Given the description of an element on the screen output the (x, y) to click on. 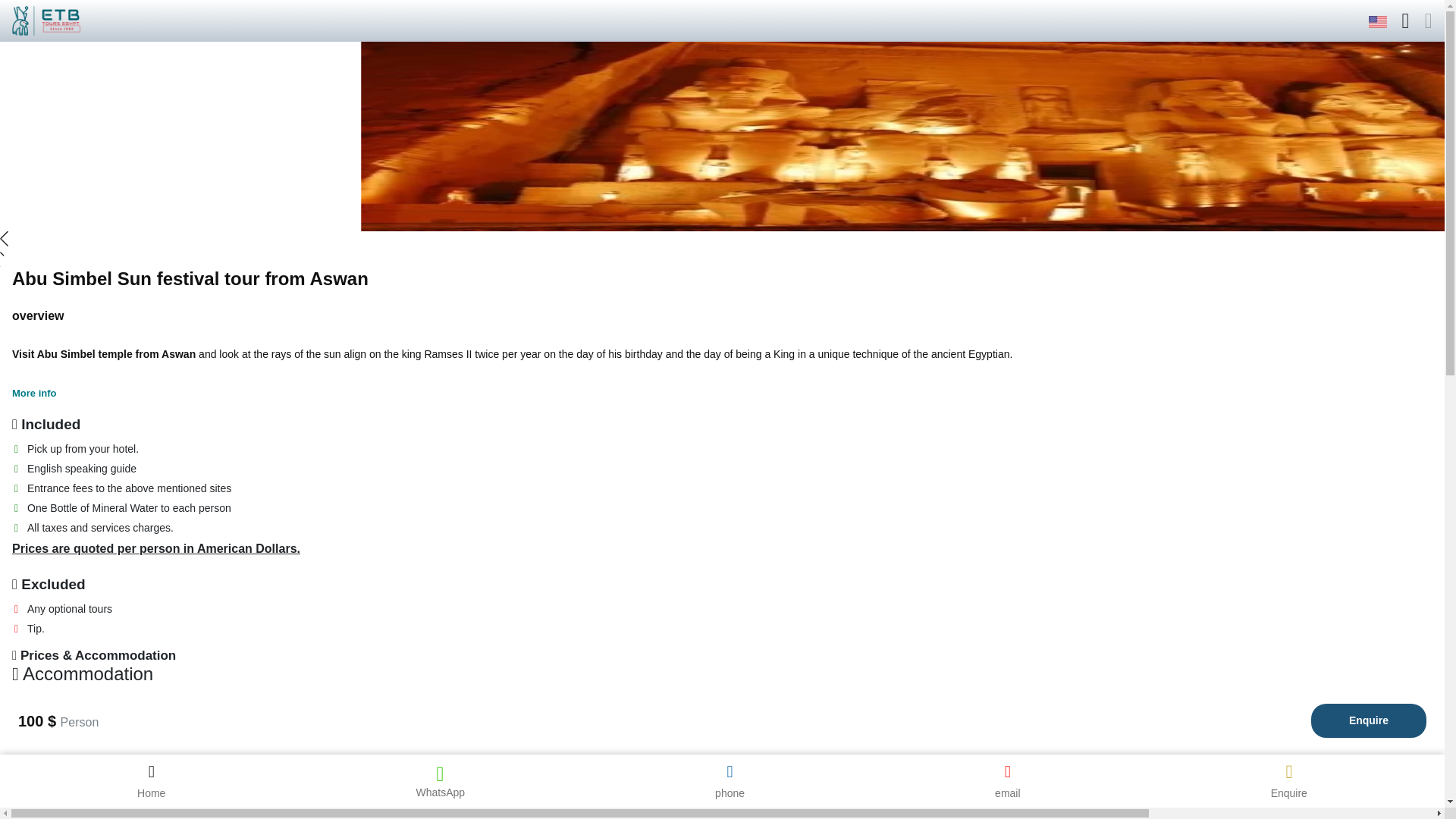
7 Days Egypt Tours (193, 142)
Red Sea Tour Packages (193, 542)
5 Days Egypt Tour Package (193, 105)
Egypt Short Tours Packages (193, 506)
ETB Tours Egypt (1377, 22)
Egypt Easter Holidays 2024 (193, 579)
Luxury Egypt Tours (193, 470)
15 Days Egypt Tours (193, 433)
Cairo Tours Packages (193, 688)
12 Days Egypt Tours (193, 324)
14 Days Egypt Tours (193, 397)
8 Days Egypt Vacation Packages (193, 178)
Egypt Classic Tours (193, 69)
13 Days Egypt Tours (193, 361)
11 Days Egypt Tours (193, 288)
